Given the description of an element on the screen output the (x, y) to click on. 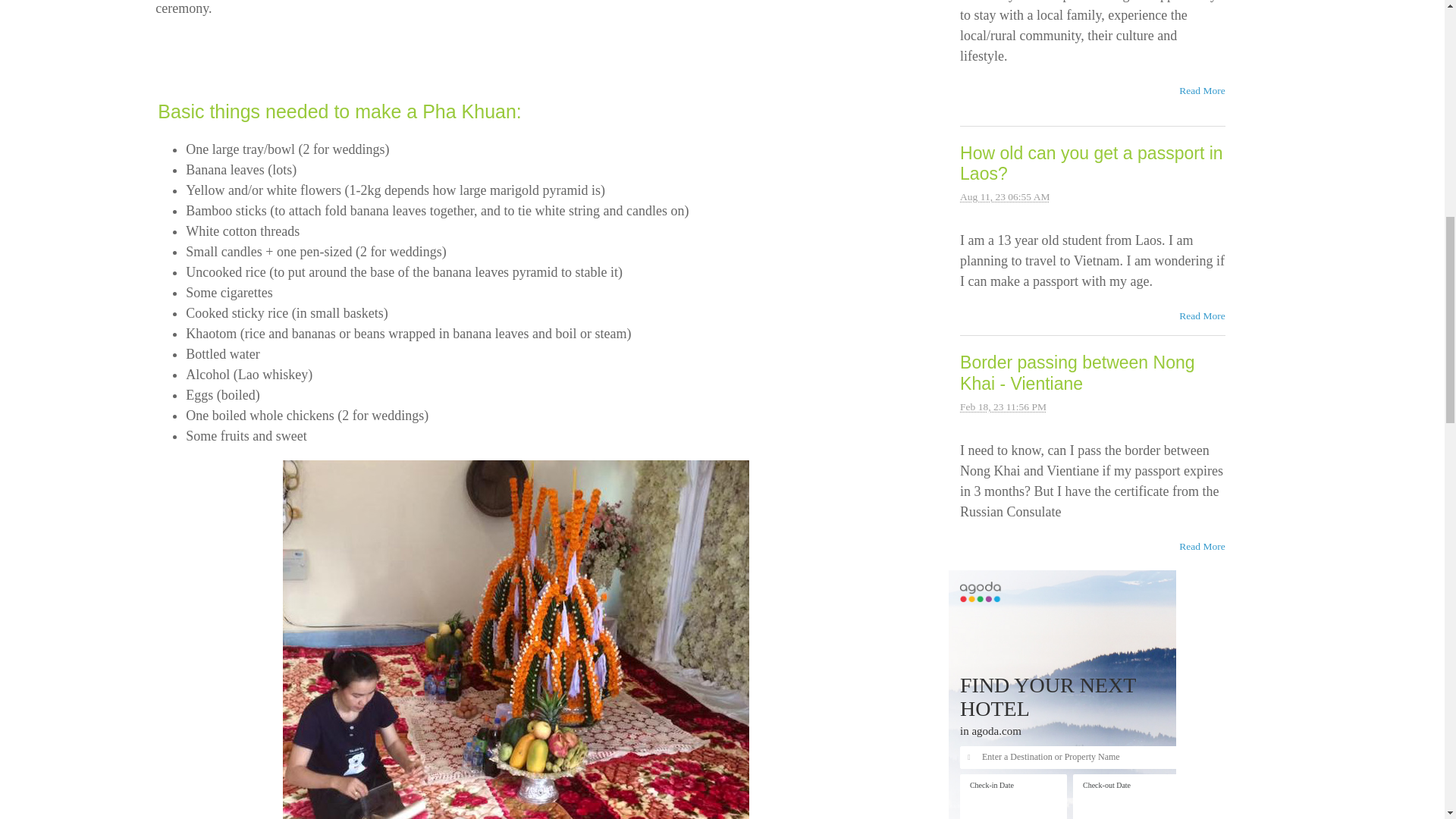
2023-02-18T23:56:00-0500 (1002, 406)
2023-08-11T06:55:00-0400 (1004, 196)
